Given the description of an element on the screen output the (x, y) to click on. 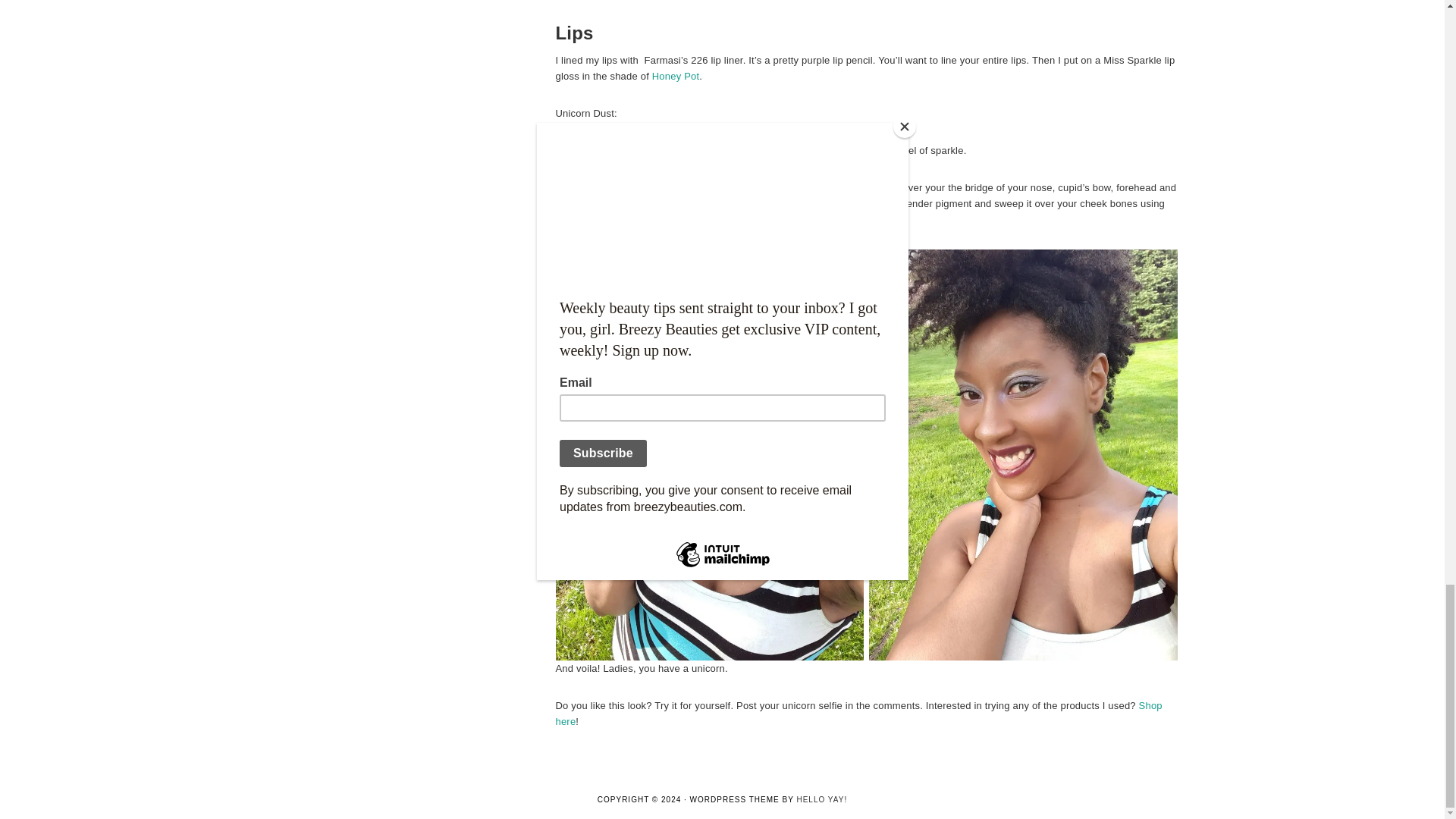
Honey Pot (676, 75)
Shop here (857, 713)
HELLO YAY! (821, 799)
